Given the description of an element on the screen output the (x, y) to click on. 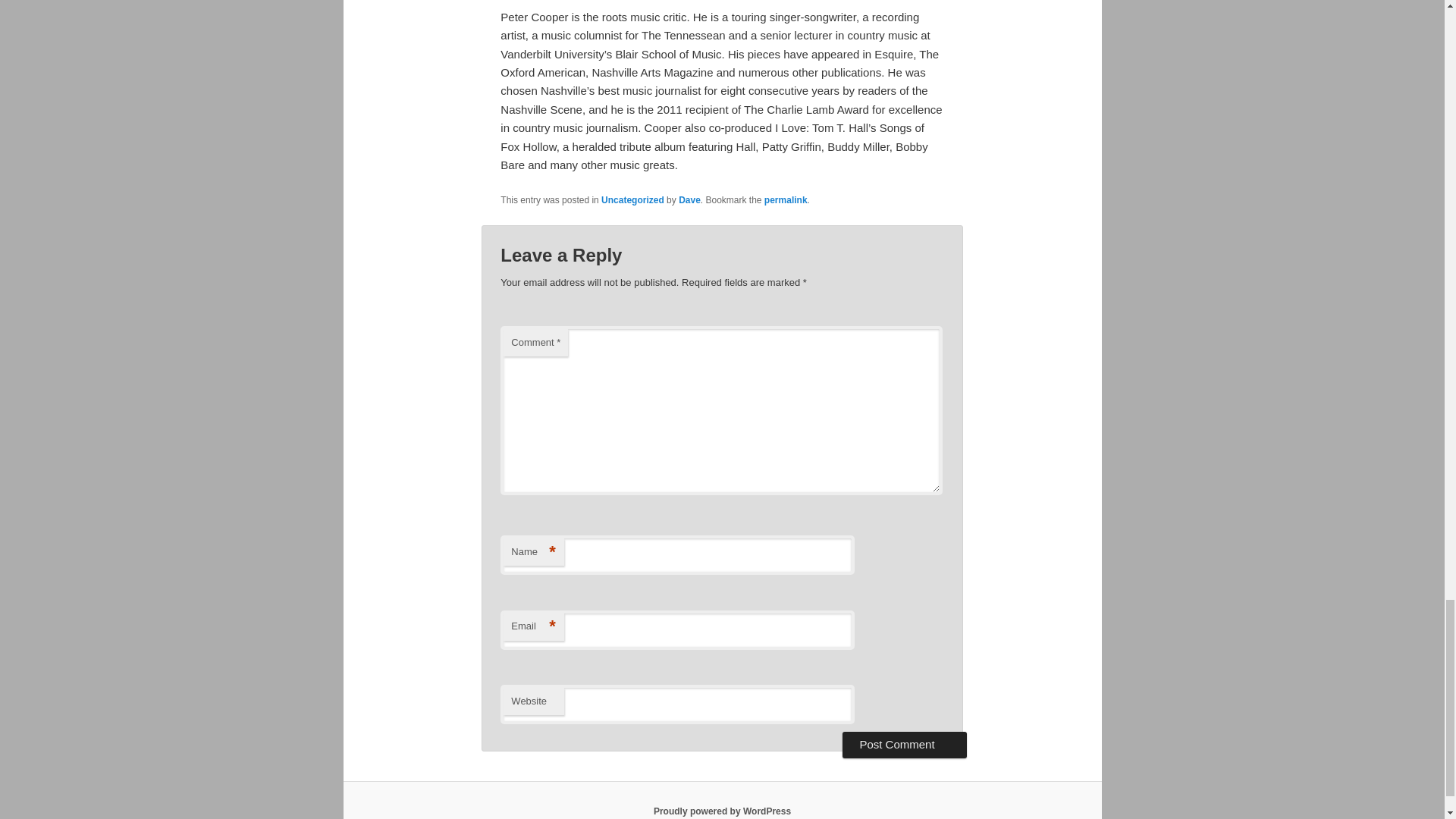
permalink (786, 199)
Proudly powered by WordPress (721, 810)
Post Comment (904, 744)
Semantic Personal Publishing Platform (721, 810)
Uncategorized (632, 199)
Dave (689, 199)
Permalink to ArtNowNashville.com Review (786, 199)
Post Comment (904, 744)
